Given the description of an element on the screen output the (x, y) to click on. 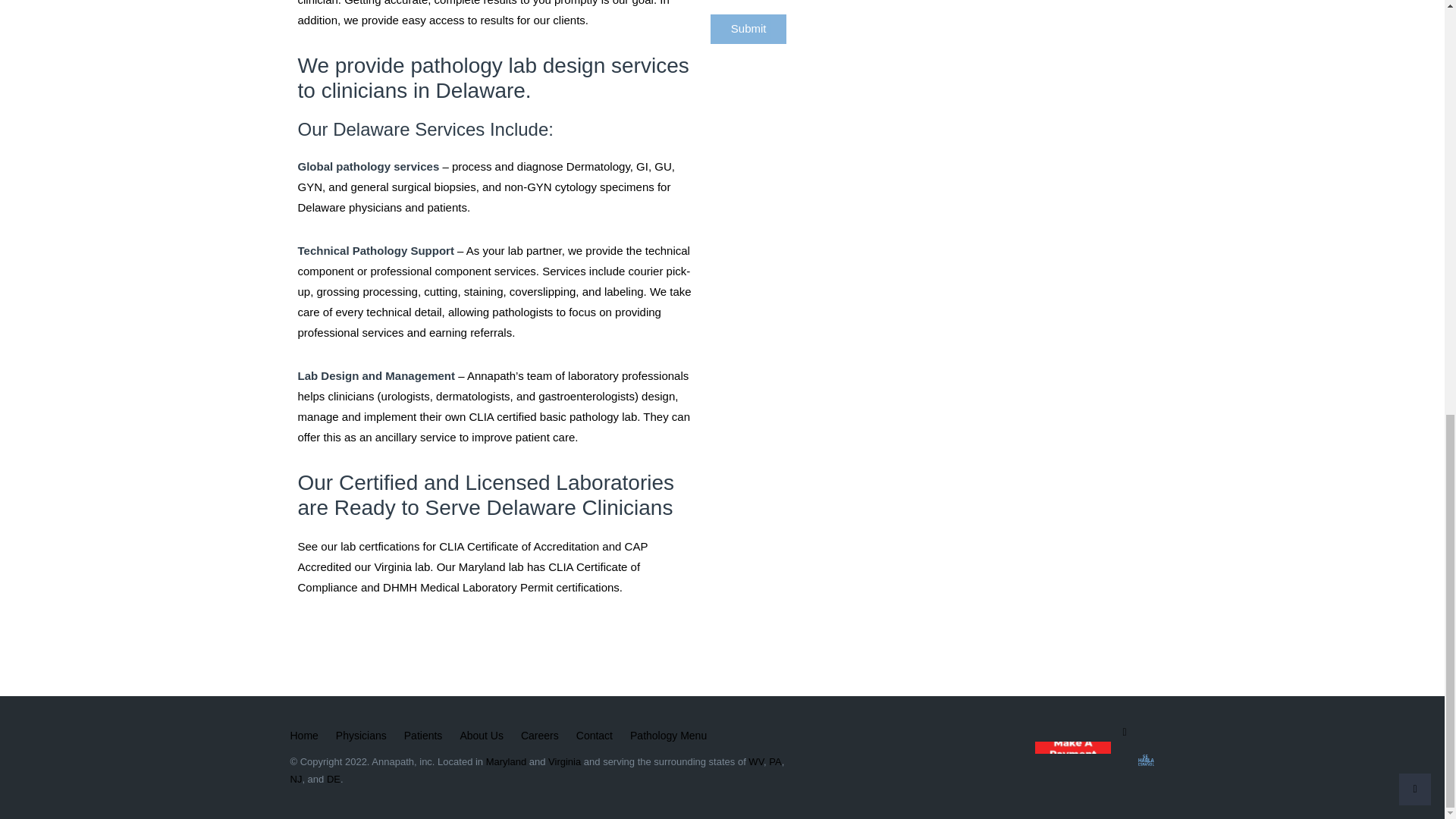
CLIA Certificate of Compliance (468, 576)
PA (774, 761)
Contact (594, 735)
Pathology Menu (668, 735)
Physicians (361, 735)
WV (755, 761)
Submit (748, 29)
Virginia (564, 761)
Maryland (505, 761)
Careers (540, 735)
Patients (423, 735)
Submit (748, 29)
DHMH Medical Laboratory Permit (467, 586)
About Us (481, 735)
Home (303, 735)
